Given the description of an element on the screen output the (x, y) to click on. 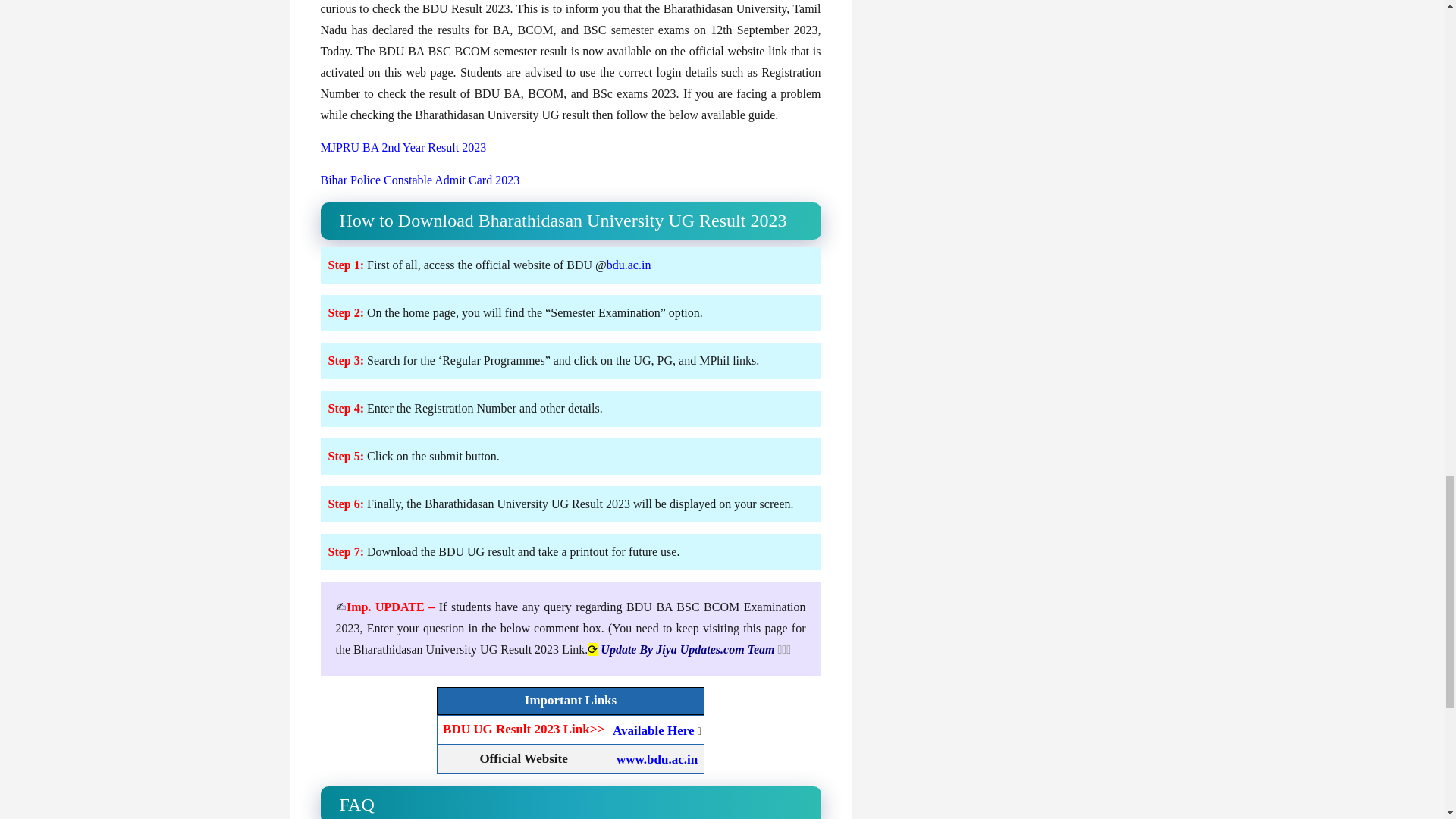
www.bdu.ac.in (656, 759)
Available Here (653, 730)
MJPRU BA 2nd Year Result 2023 (403, 146)
Bihar Police Constable Admit Card 2023 (419, 179)
